Given the description of an element on the screen output the (x, y) to click on. 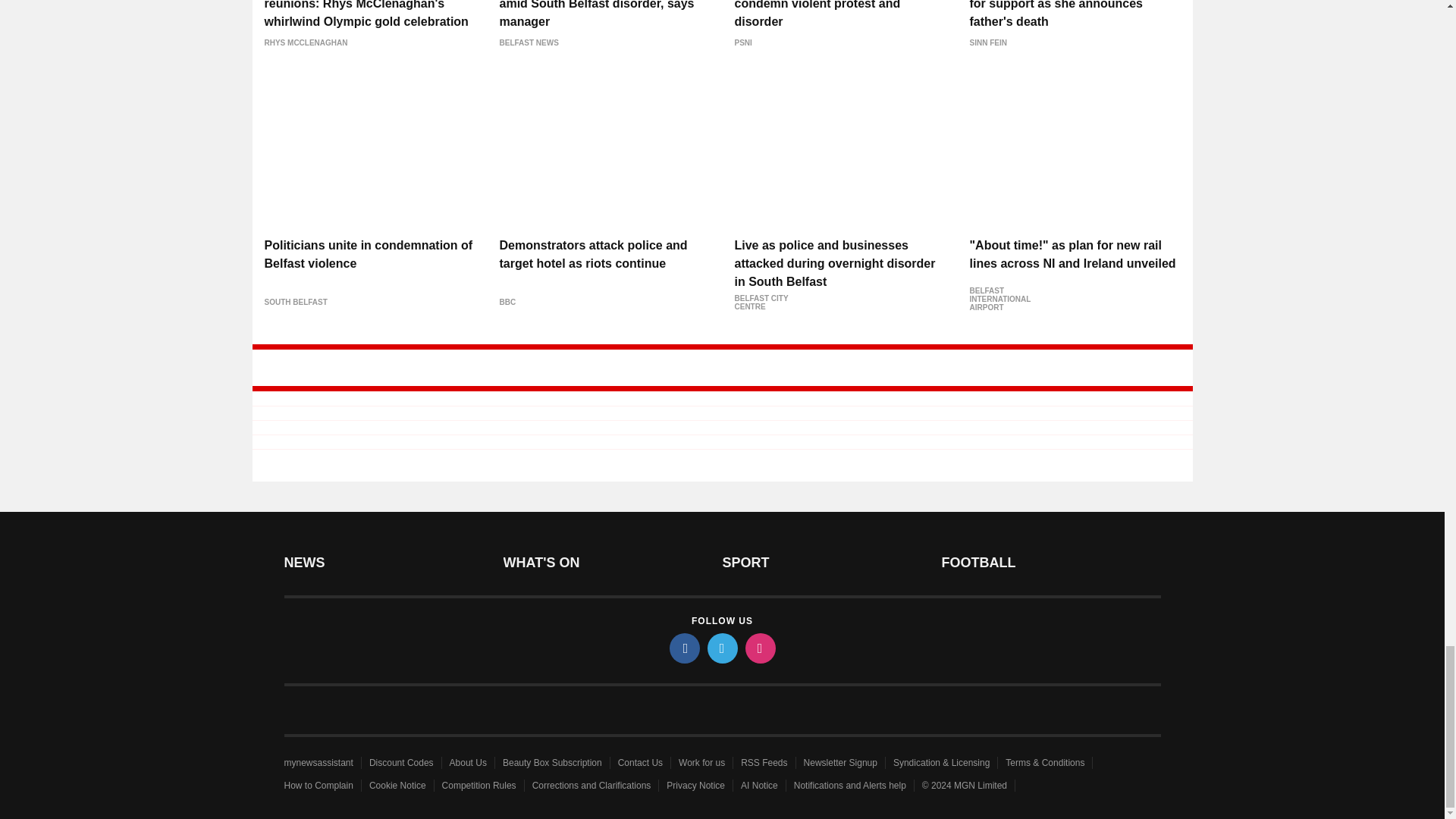
twitter (721, 648)
instagram (759, 648)
facebook (683, 648)
